Given the description of an element on the screen output the (x, y) to click on. 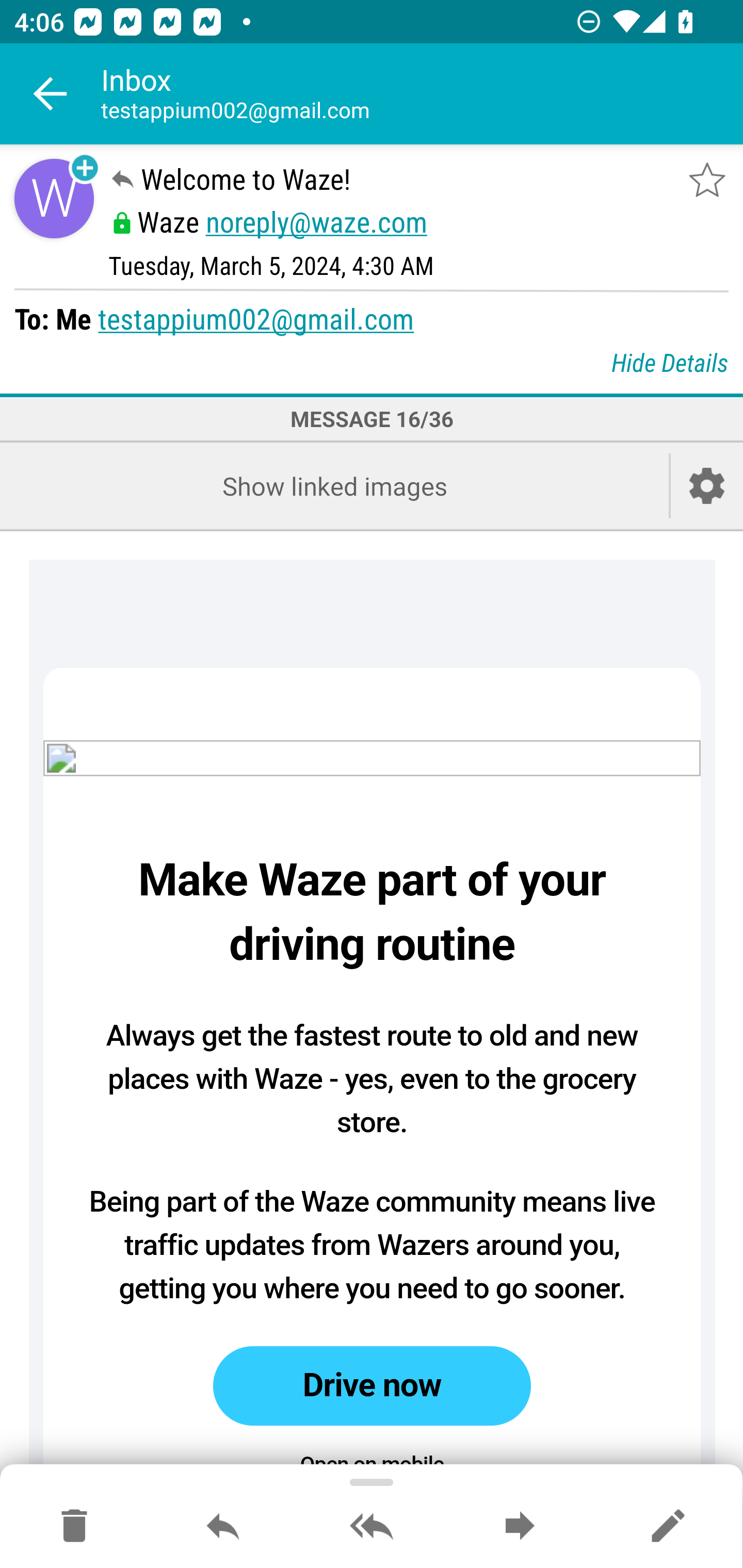
Navigate up (50, 93)
Inbox testappium002@gmail.com (422, 93)
Sender contact button (53, 198)
Show linked images (334, 485)
Account setup (706, 485)
72# (372, 758)
Drive now (372, 1385)
Move to Deleted (74, 1527)
Reply (222, 1527)
Reply all (371, 1527)
Forward (519, 1527)
Reply as new (667, 1527)
